Given the description of an element on the screen output the (x, y) to click on. 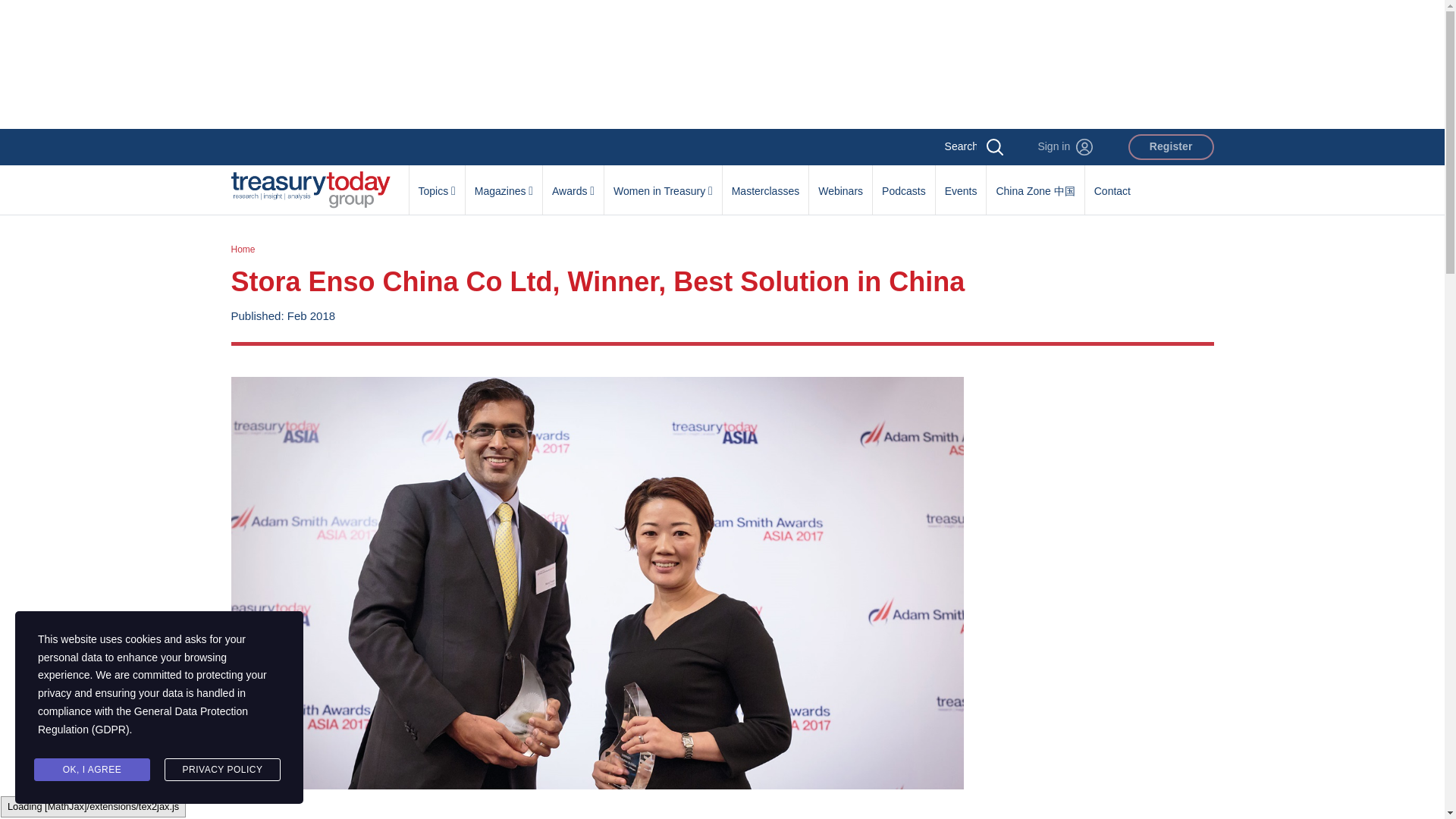
Awards  (573, 182)
Magazines  (503, 182)
Webinars (840, 182)
Masterclasses (765, 182)
Women in Treasury  (663, 182)
Register (1171, 146)
Sign in (1064, 146)
Topics  (436, 182)
